Given the description of an element on the screen output the (x, y) to click on. 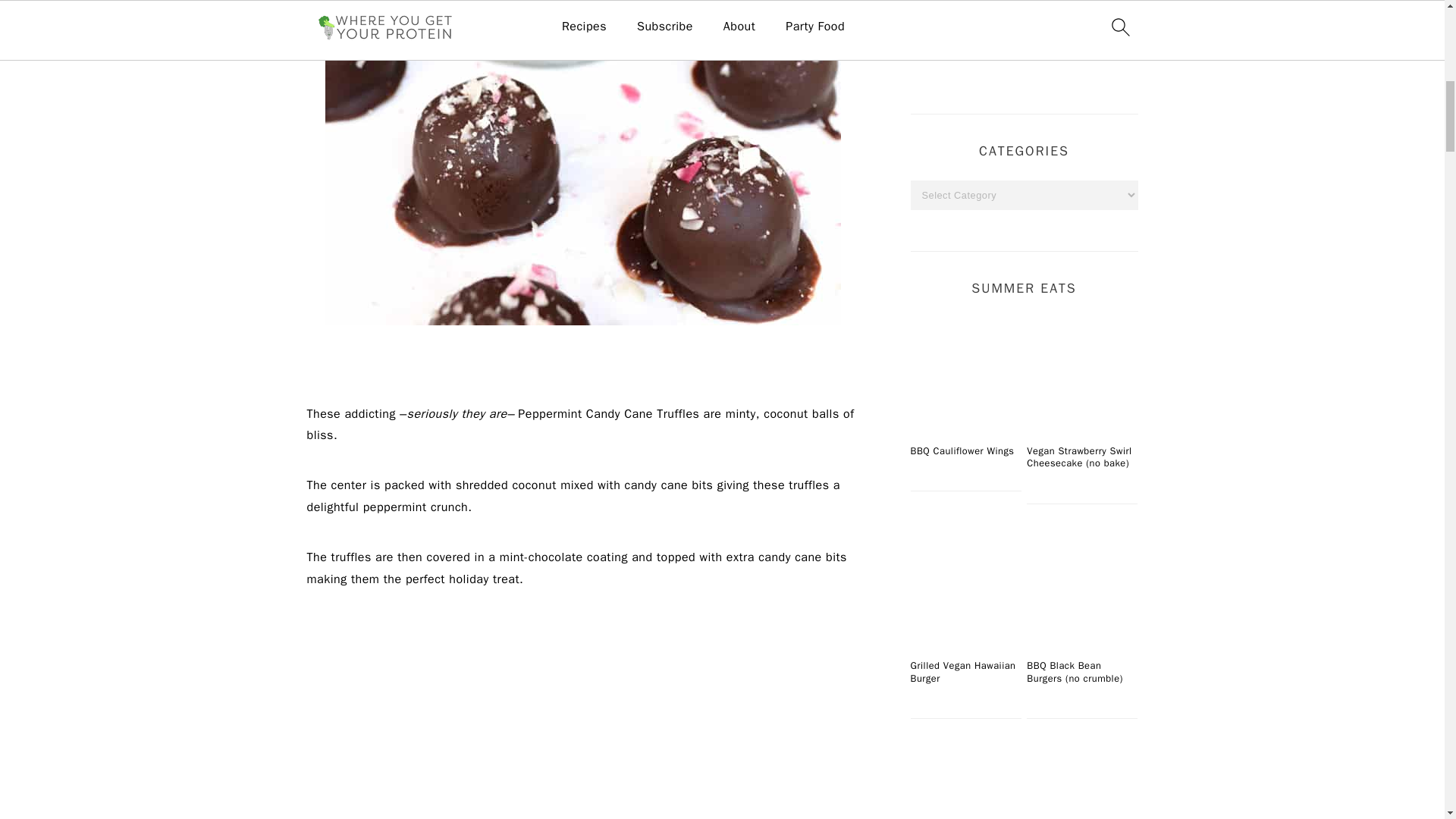
Easy Mango Pico De Gallo (1081, 782)
BBQ Cauliflower Wings (965, 372)
Grilled Vegan Hawaiian Burger (965, 587)
